Given the description of an element on the screen output the (x, y) to click on. 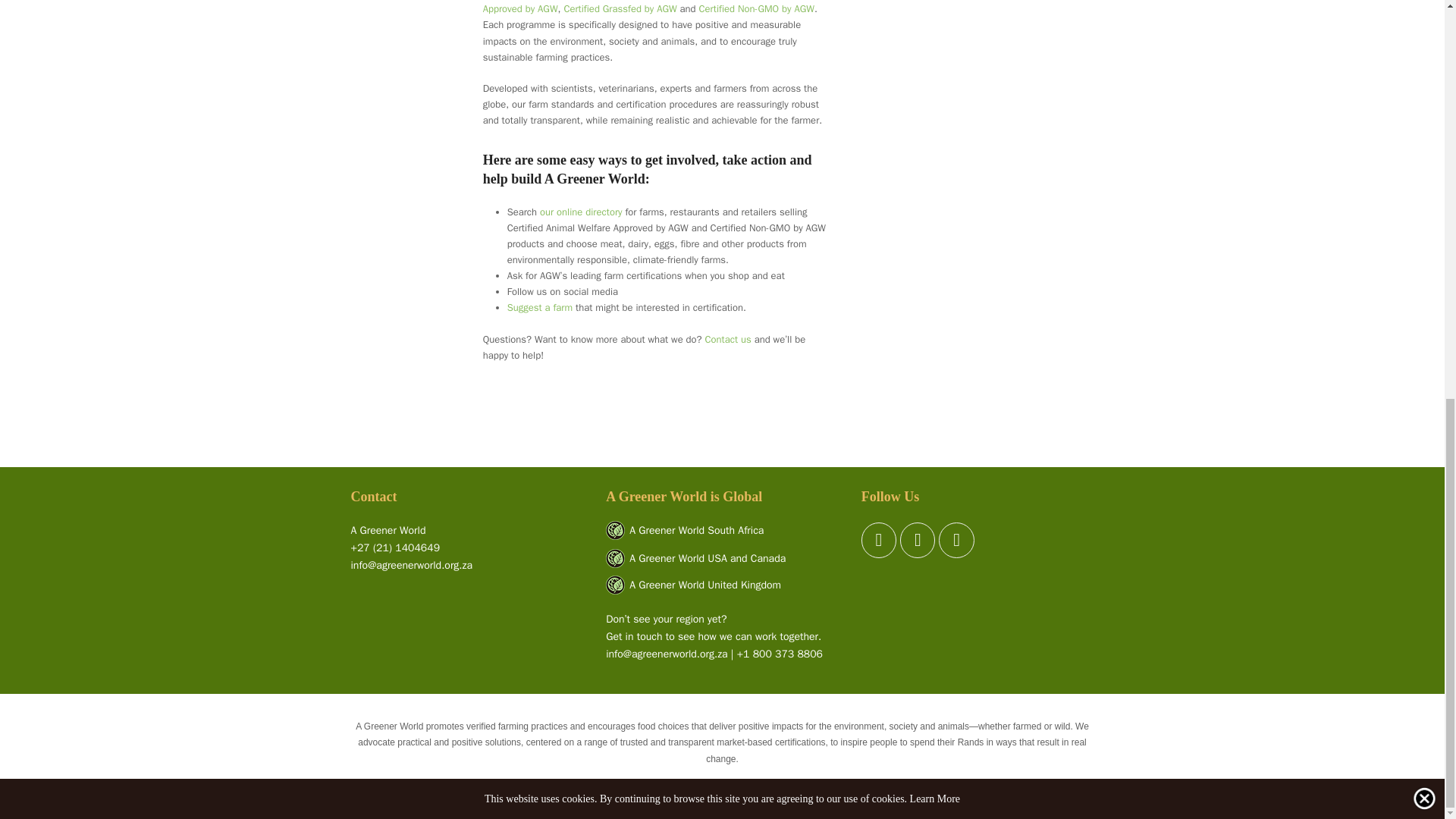
Certified Animal Welfare Approved by AGW (644, 7)
Suggest a farm (539, 307)
Facebook (878, 539)
Certified Non-GMO by AGW (755, 8)
Certified Grassfed by AGW (620, 8)
Twitter (956, 539)
our online directory (581, 211)
Instagram (916, 539)
